Given the description of an element on the screen output the (x, y) to click on. 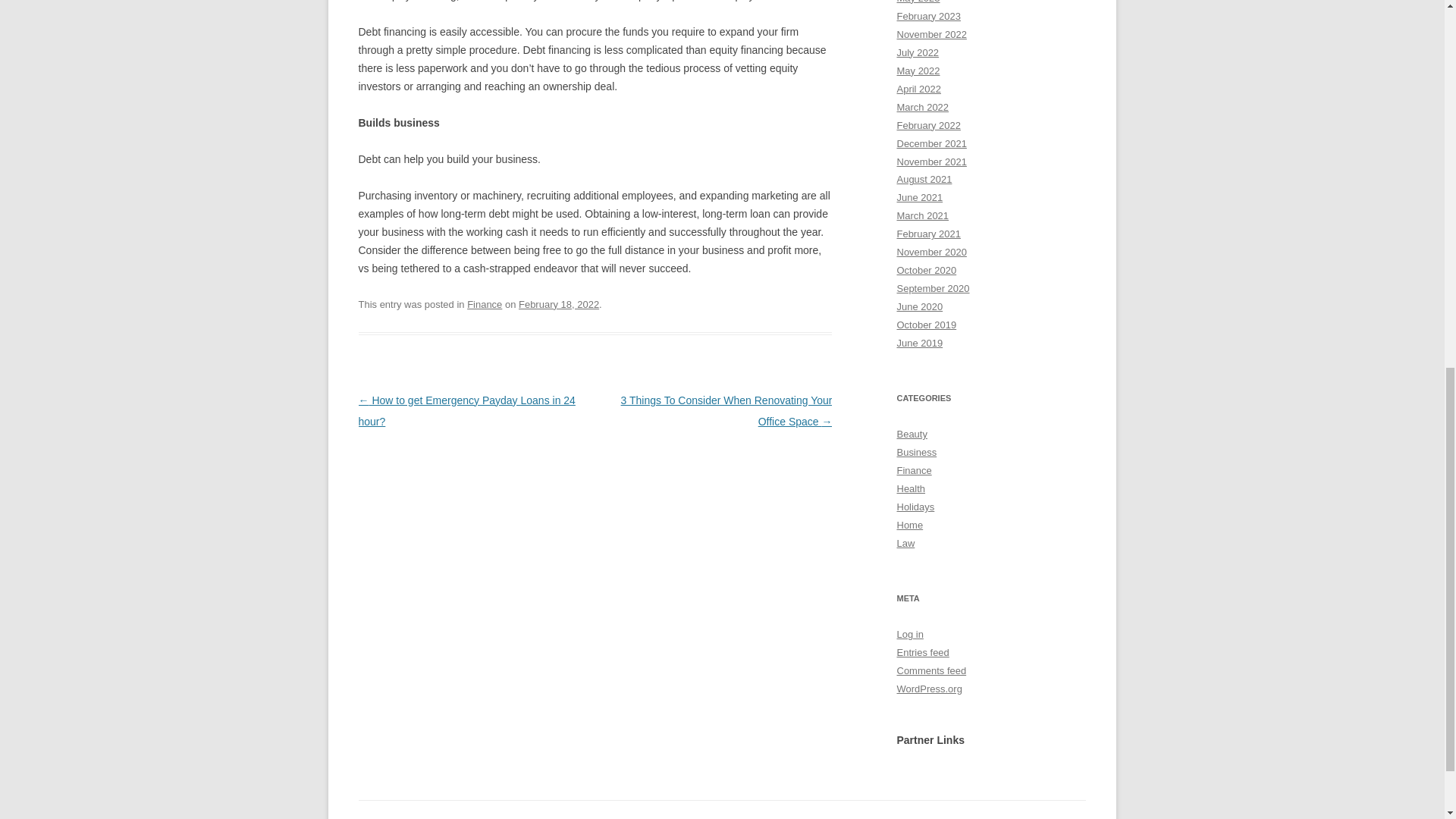
November 2022 (931, 34)
March 2022 (922, 107)
Finance (484, 304)
March 2021 (922, 215)
February 2021 (927, 233)
August 2021 (924, 179)
October 2020 (926, 270)
May 2023 (917, 2)
May 2022 (917, 70)
December 2021 (931, 143)
July 2022 (917, 52)
February 2023 (927, 16)
February 18, 2022 (558, 304)
November 2020 (931, 251)
June 2021 (919, 197)
